Given the description of an element on the screen output the (x, y) to click on. 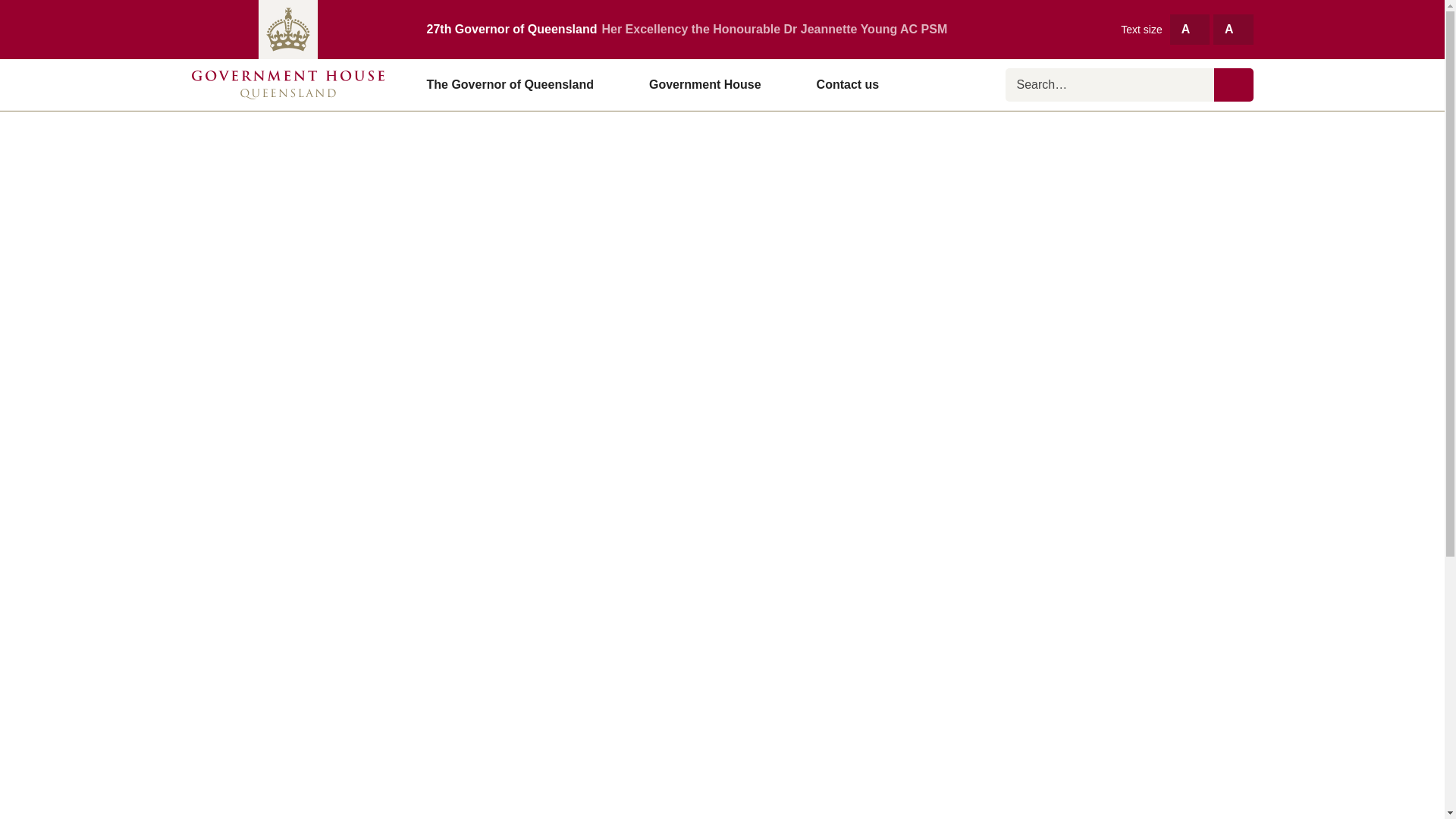
Contact us (848, 84)
Government House (711, 84)
The Governor of Queensland (515, 84)
Increase text size (1189, 29)
Decrease text size (1232, 29)
A (1232, 29)
Government House Queensland (287, 84)
A (1189, 29)
